Given the description of an element on the screen output the (x, y) to click on. 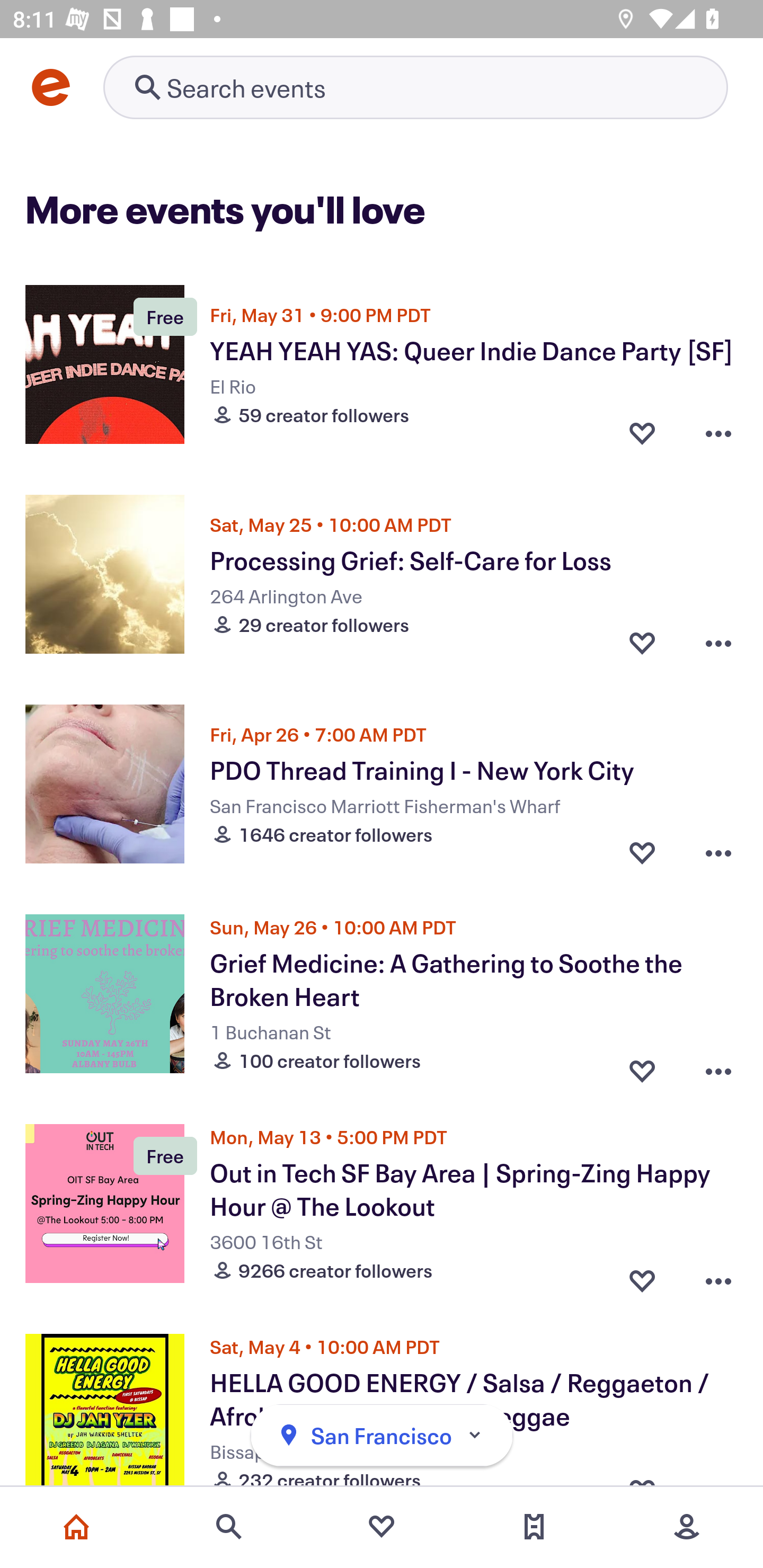
Retry's image Search events (415, 86)
Favorite button (642, 431)
Overflow menu button (718, 431)
Favorite button (642, 641)
Overflow menu button (718, 641)
Favorite button (642, 852)
Overflow menu button (718, 852)
Favorite button (642, 1066)
Overflow menu button (718, 1066)
Favorite button (642, 1275)
Overflow menu button (718, 1275)
San Francisco (381, 1435)
Home (76, 1526)
Search events (228, 1526)
Favorites (381, 1526)
Tickets (533, 1526)
More (686, 1526)
